Given the description of an element on the screen output the (x, y) to click on. 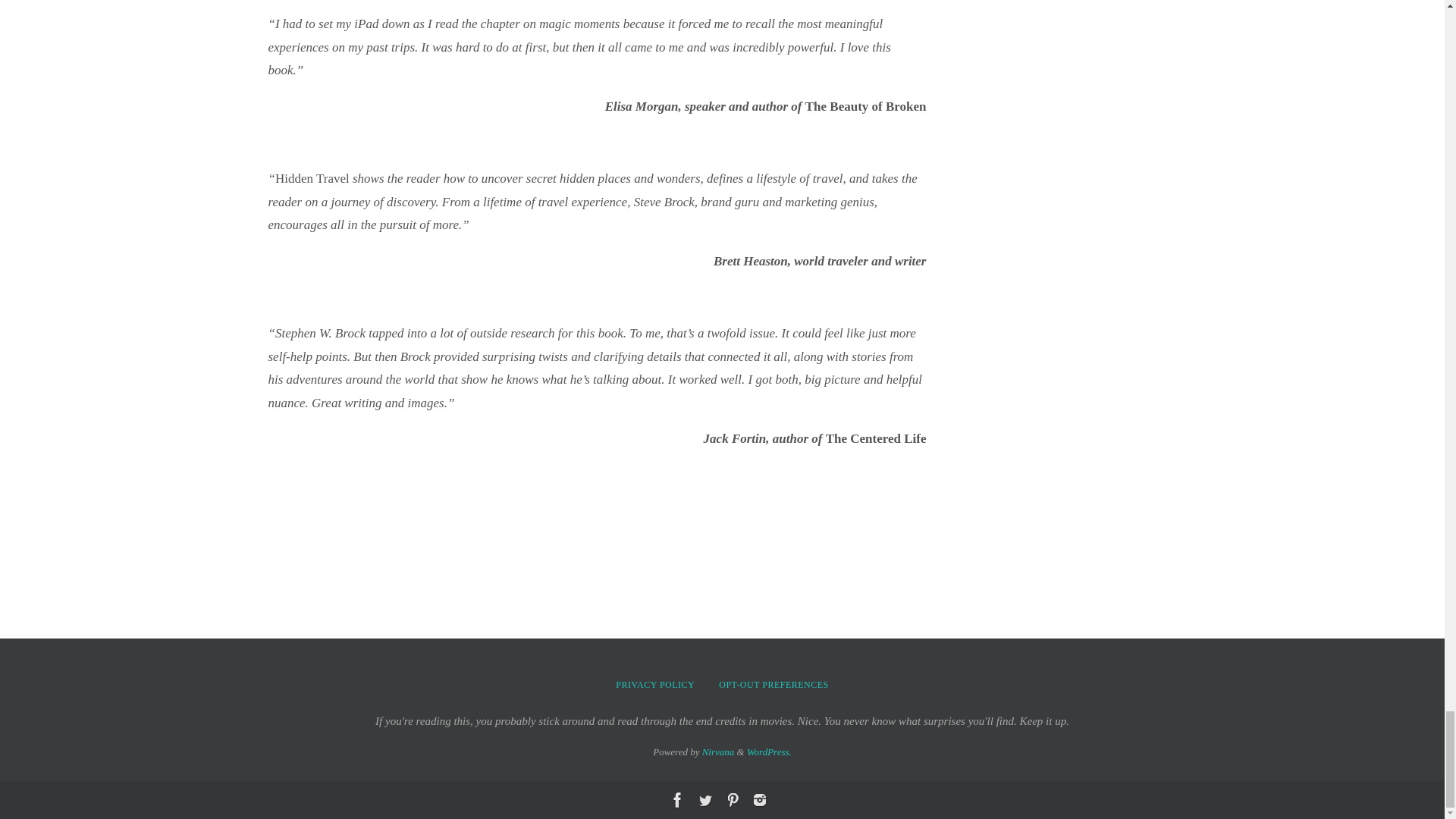
Semantic Personal Publishing Platform (769, 751)
Nirvana Theme by Cryout Creations (718, 751)
Facebook (676, 799)
